Given the description of an element on the screen output the (x, y) to click on. 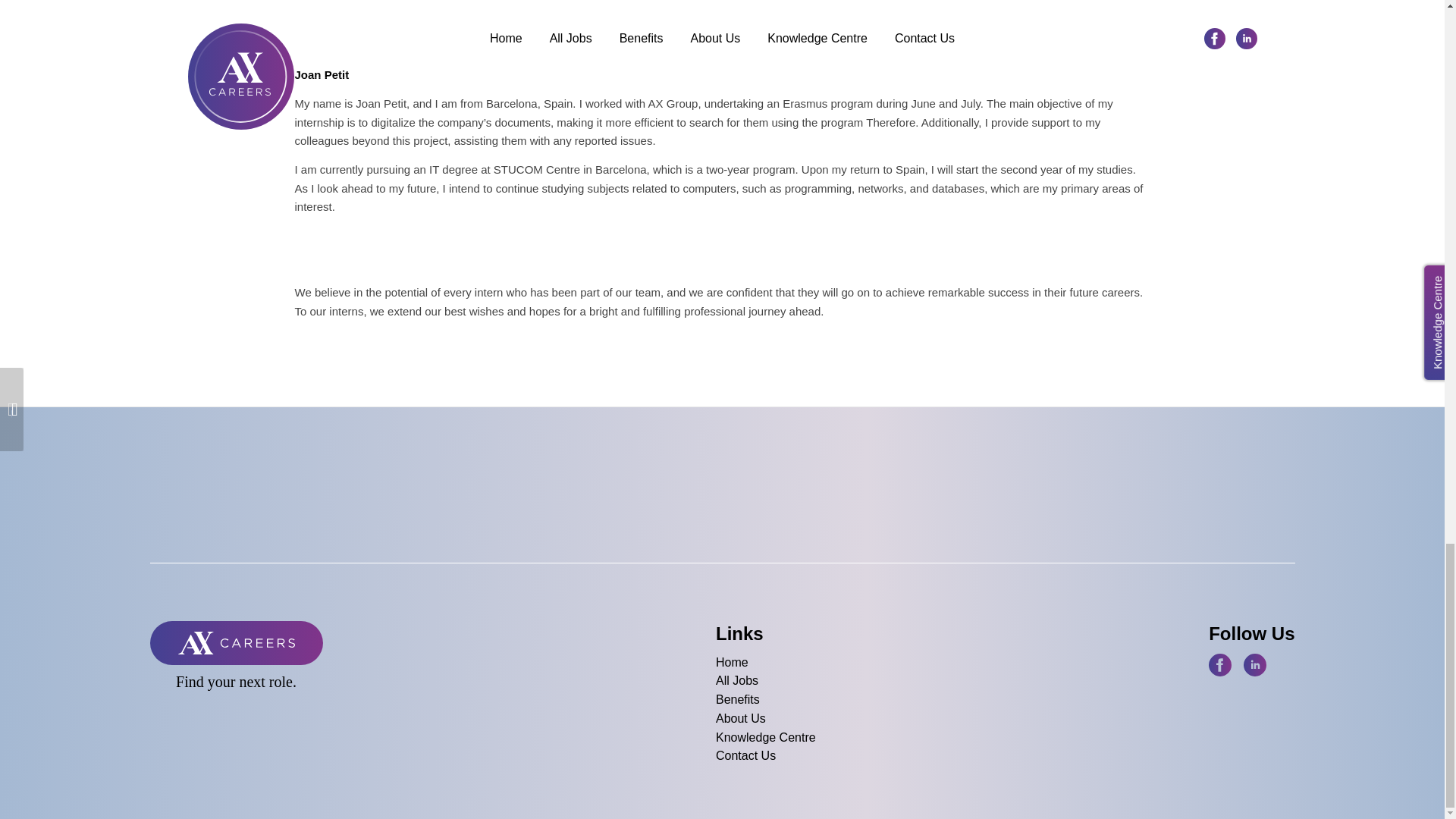
Home (765, 662)
All Jobs (765, 681)
